Given the description of an element on the screen output the (x, y) to click on. 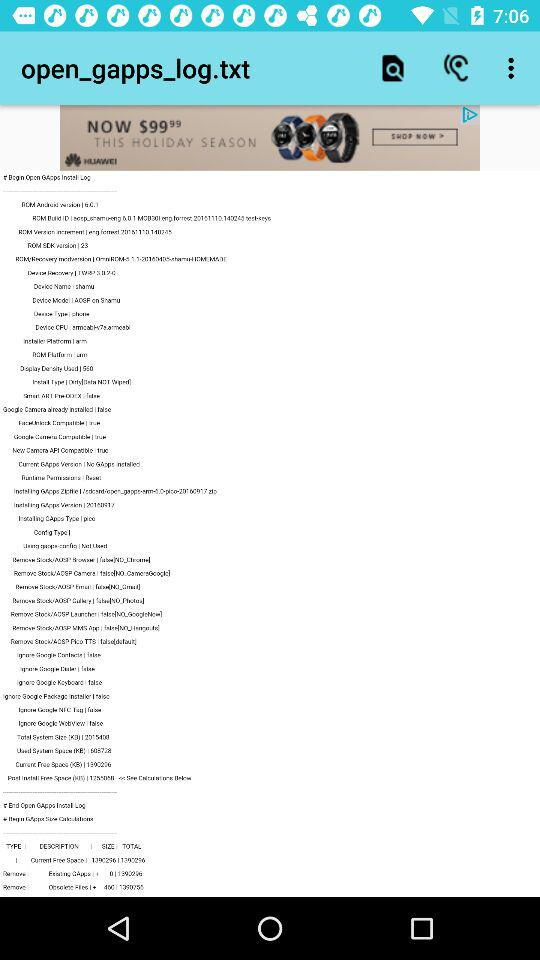
go to advertisement website (270, 137)
